Given the description of an element on the screen output the (x, y) to click on. 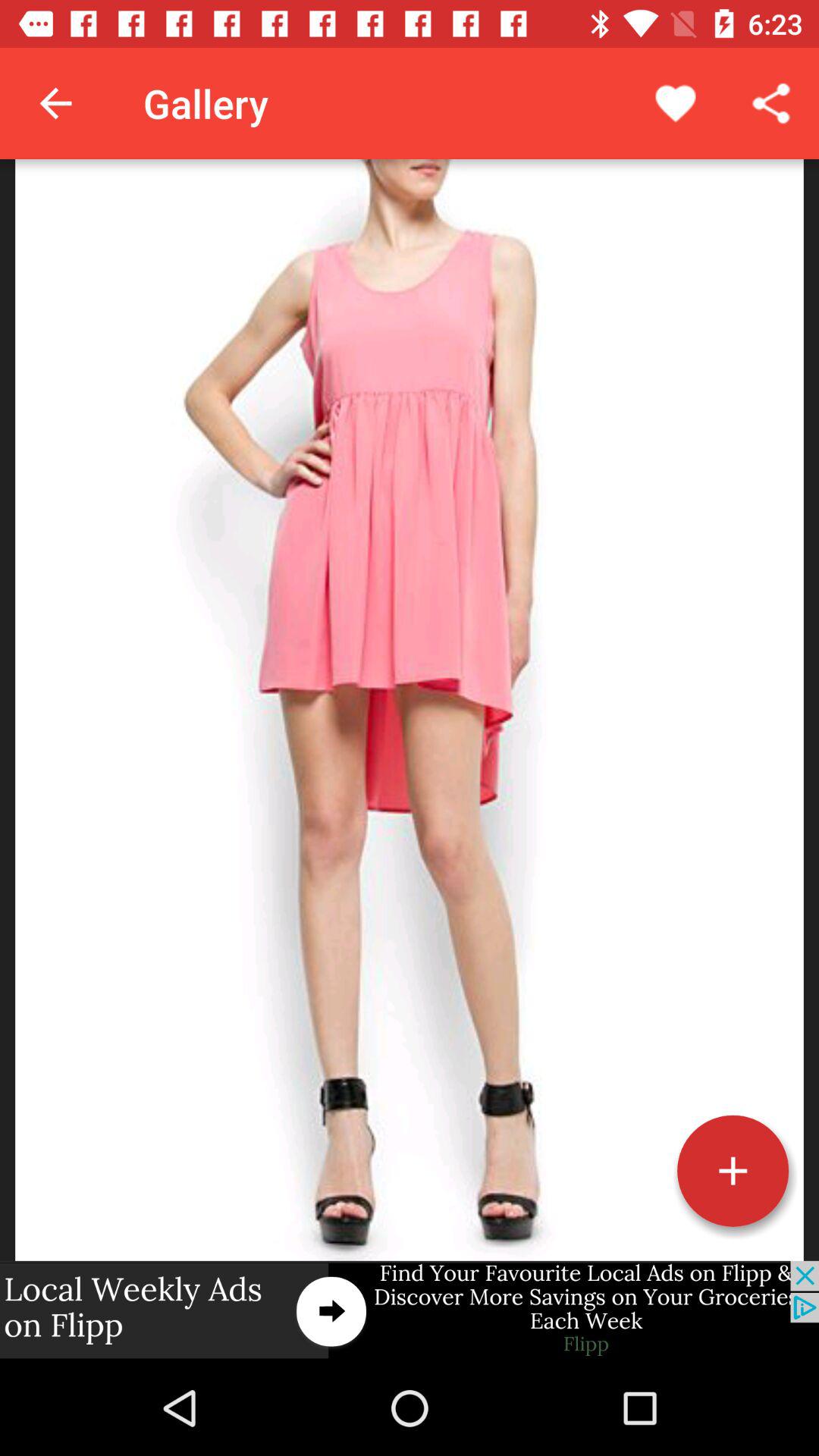
open advertisement (409, 1310)
